Given the description of an element on the screen output the (x, y) to click on. 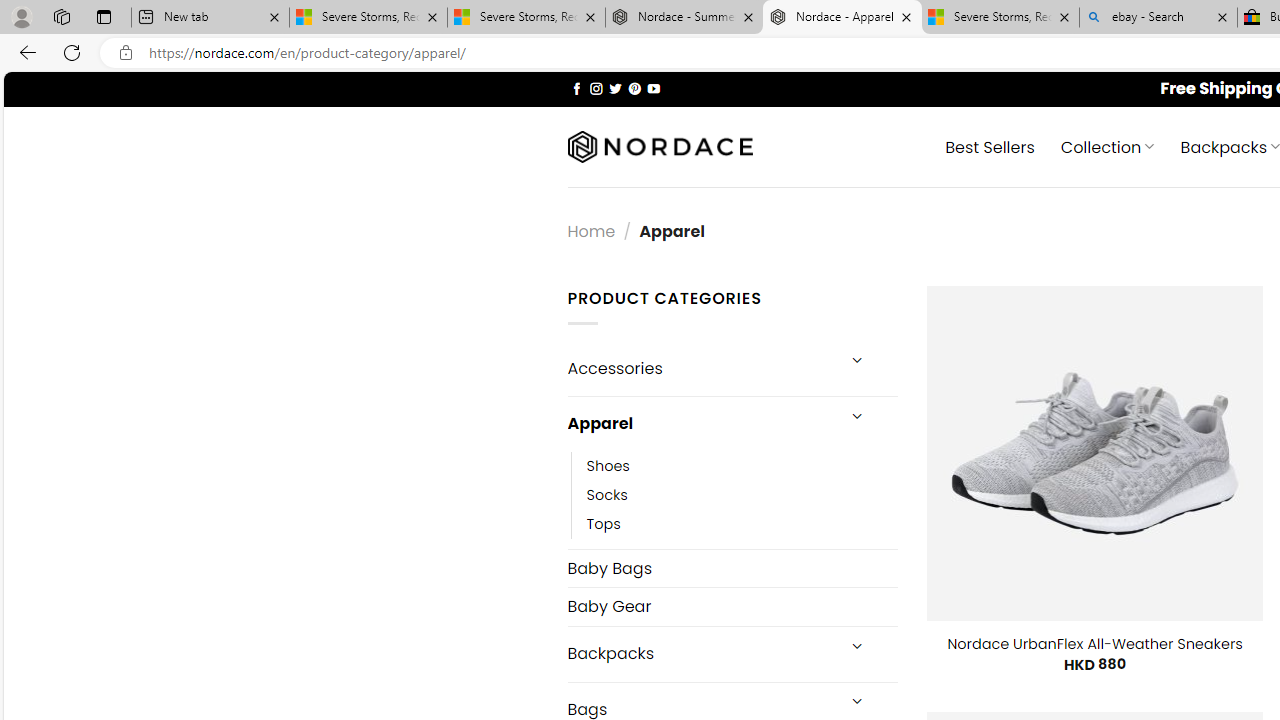
Follow on Twitter (615, 88)
Socks (607, 494)
Nordace UrbanFlex All-Weather Sneakers (1094, 643)
Socks (742, 494)
Baby Bags (732, 568)
